Given the description of an element on the screen output the (x, y) to click on. 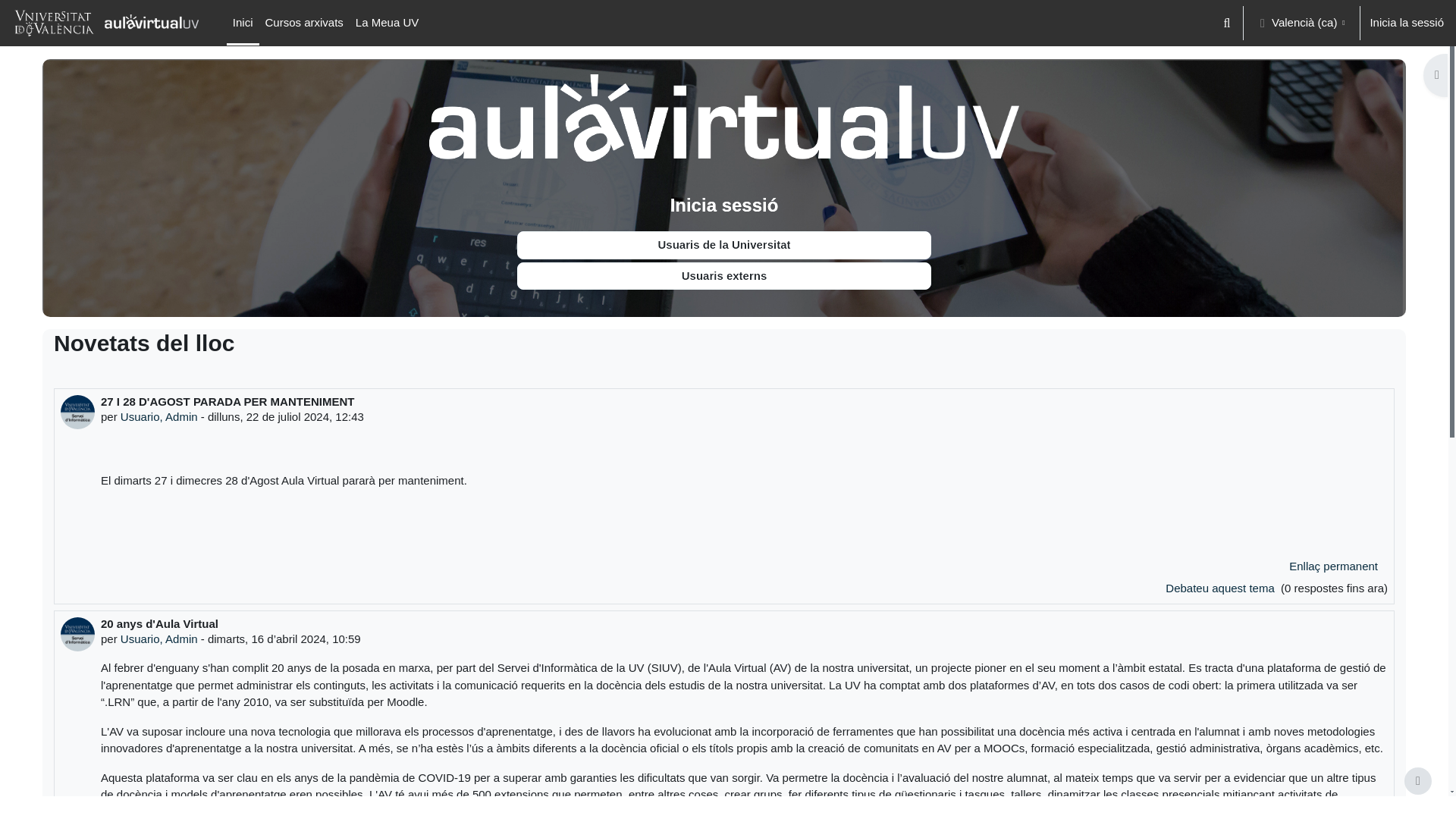
Usuario, Admin (159, 416)
Usuaris externs (723, 276)
Catalan (304, 22)
Usuaris de la Universitat (723, 244)
Imatge Usuario, Admin (77, 411)
AulaVirtual (724, 117)
Cursos arxivats (304, 22)
Imatge Usuario, Admin (77, 634)
La Meua UV (387, 22)
Catalan (387, 22)
